Given the description of an element on the screen output the (x, y) to click on. 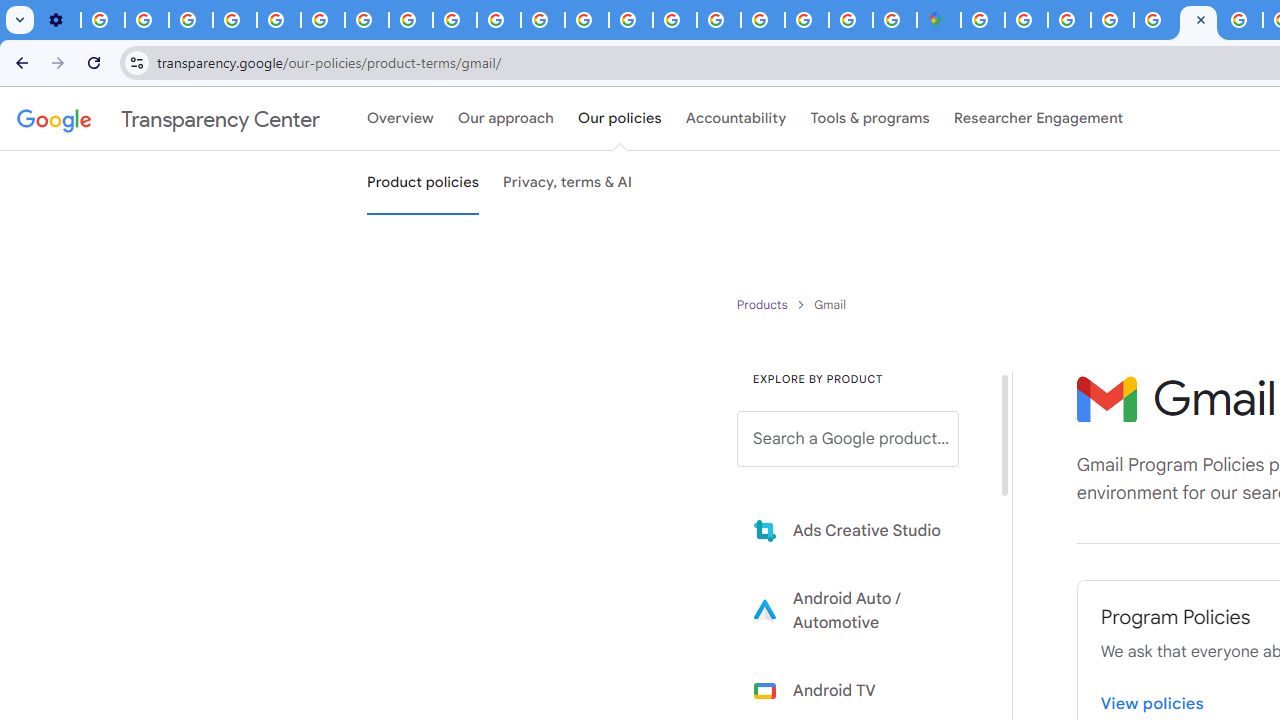
https://scholar.google.com/ (542, 20)
Learn more about Android Auto (862, 610)
Privacy Help Center - Policies Help (1241, 20)
Privacy Checkup (454, 20)
Privacy Help Center - Policies Help (278, 20)
